Given the description of an element on the screen output the (x, y) to click on. 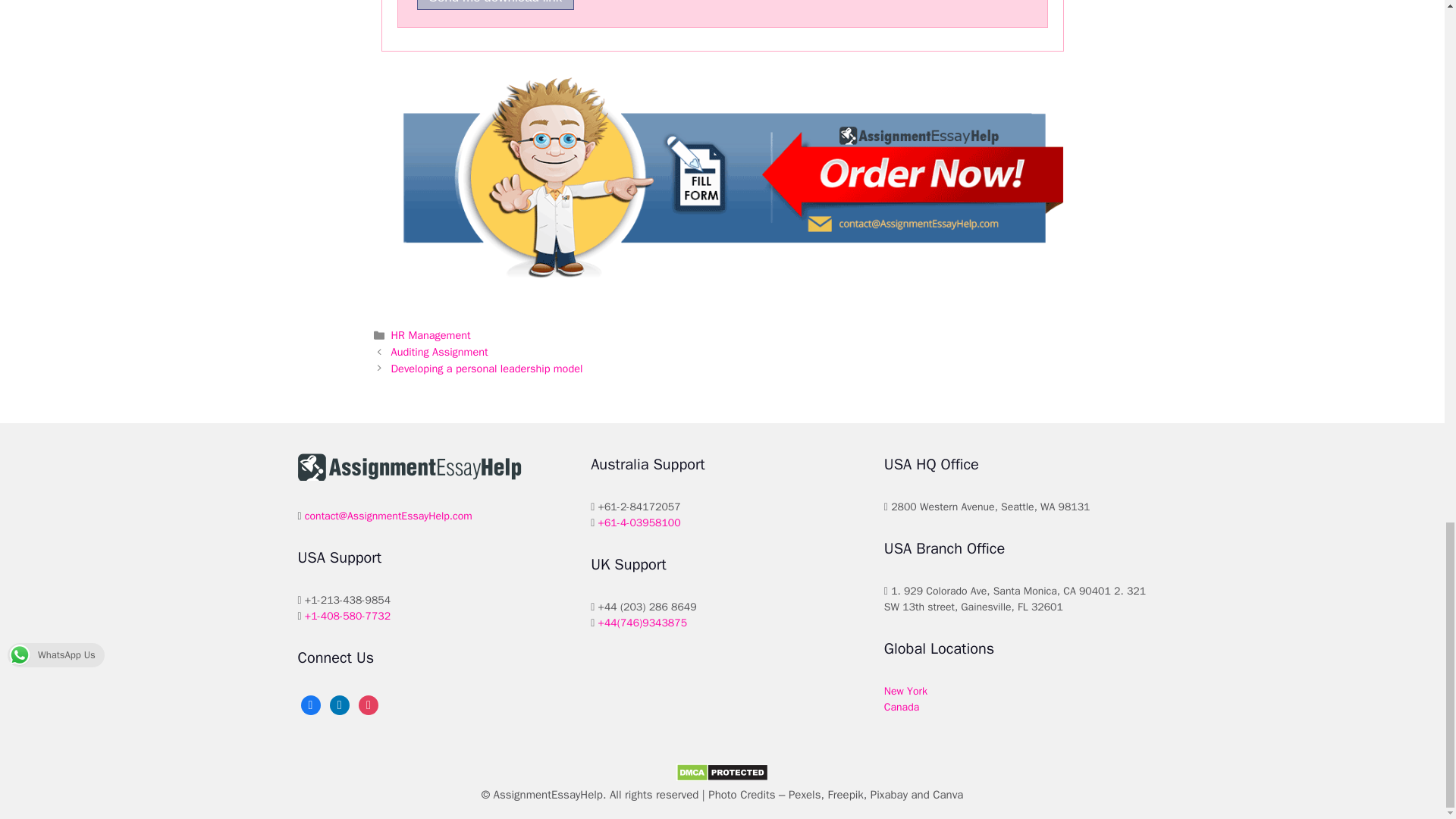
Facebook (309, 703)
Send me download link (495, 4)
Default Label (339, 703)
Scroll back to top (1406, 69)
Default Label (368, 703)
DMCA.com Protection Status (722, 776)
